Given the description of an element on the screen output the (x, y) to click on. 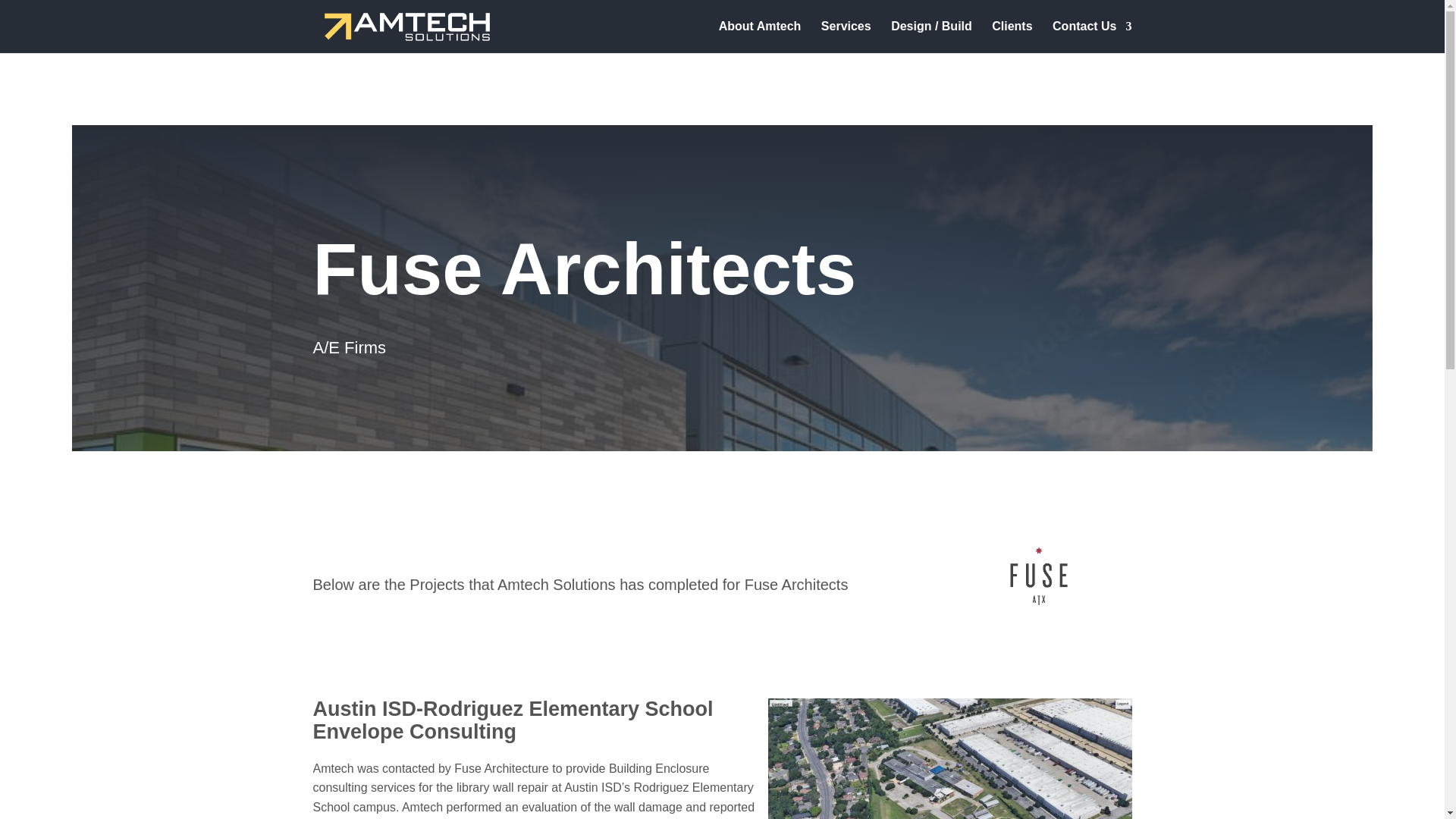
About Amtech (760, 37)
Services (845, 37)
Amtech-Client-Featured-FuseArch-1 (1038, 585)
Austin ISD-Rodriguez Elementary School Envelope Consulting (513, 719)
Clients (1011, 37)
Contact Us (1091, 37)
